Given the description of an element on the screen output the (x, y) to click on. 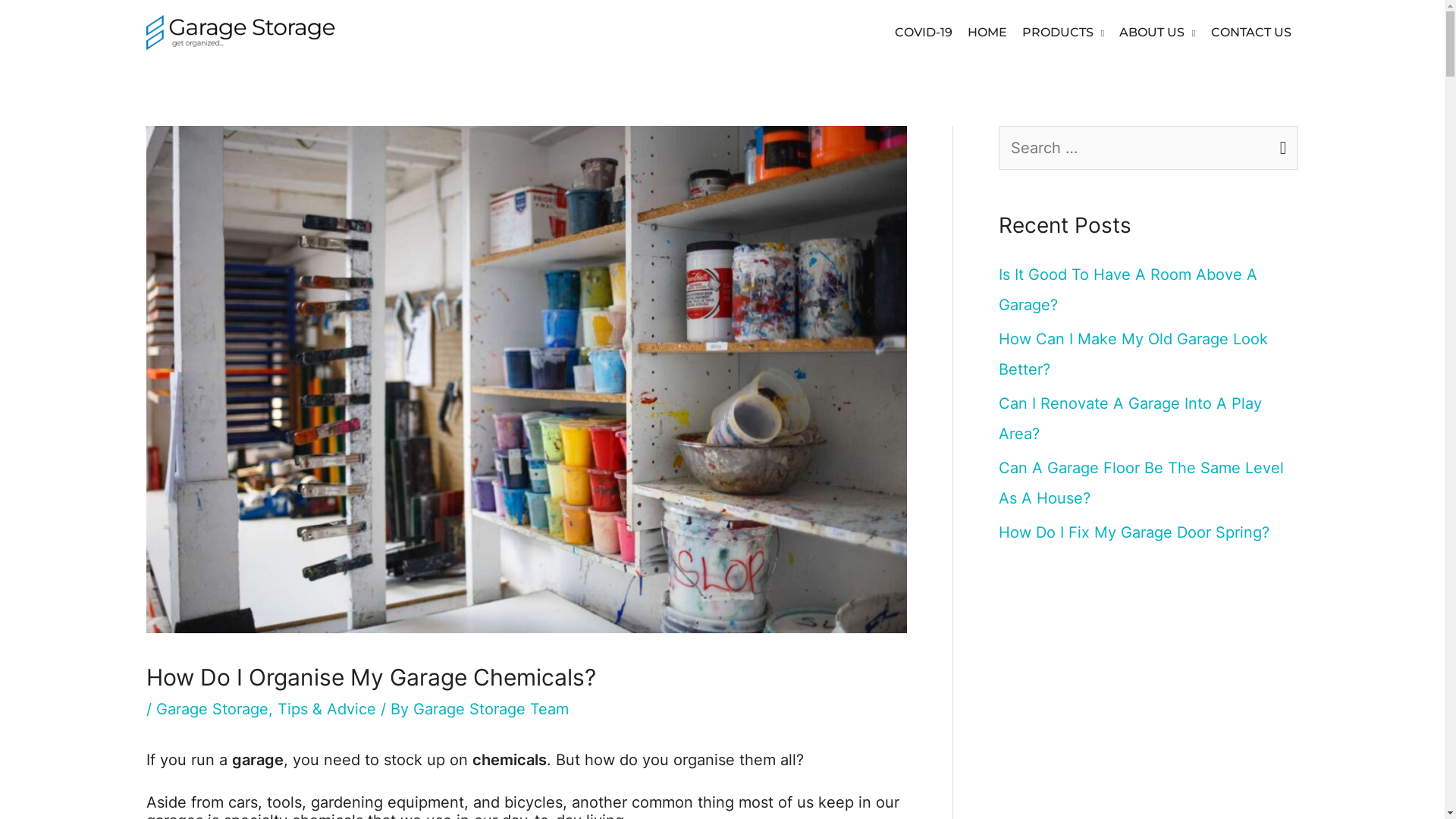
Garage Storage Team Element type: text (489, 708)
Can A Garage Floor Be The Same Level As A House? Element type: text (1140, 482)
ABOUT US Element type: text (1156, 32)
PRODUCTS Element type: text (1062, 32)
How Can I Make My Old Garage Look Better? Element type: text (1132, 353)
CONTACT US Element type: text (1250, 32)
COVID-19 Element type: text (923, 32)
Can I Renovate A Garage Into A Play Area? Element type: text (1129, 418)
How Do I Fix My Garage Door Spring? Element type: text (1132, 532)
Is It Good To Have A Room Above A Garage? Element type: text (1126, 289)
Garage Storage Element type: text (212, 708)
HOME Element type: text (987, 32)
Search Element type: text (1280, 142)
Tips & Advice Element type: text (326, 708)
